Given the description of an element on the screen output the (x, y) to click on. 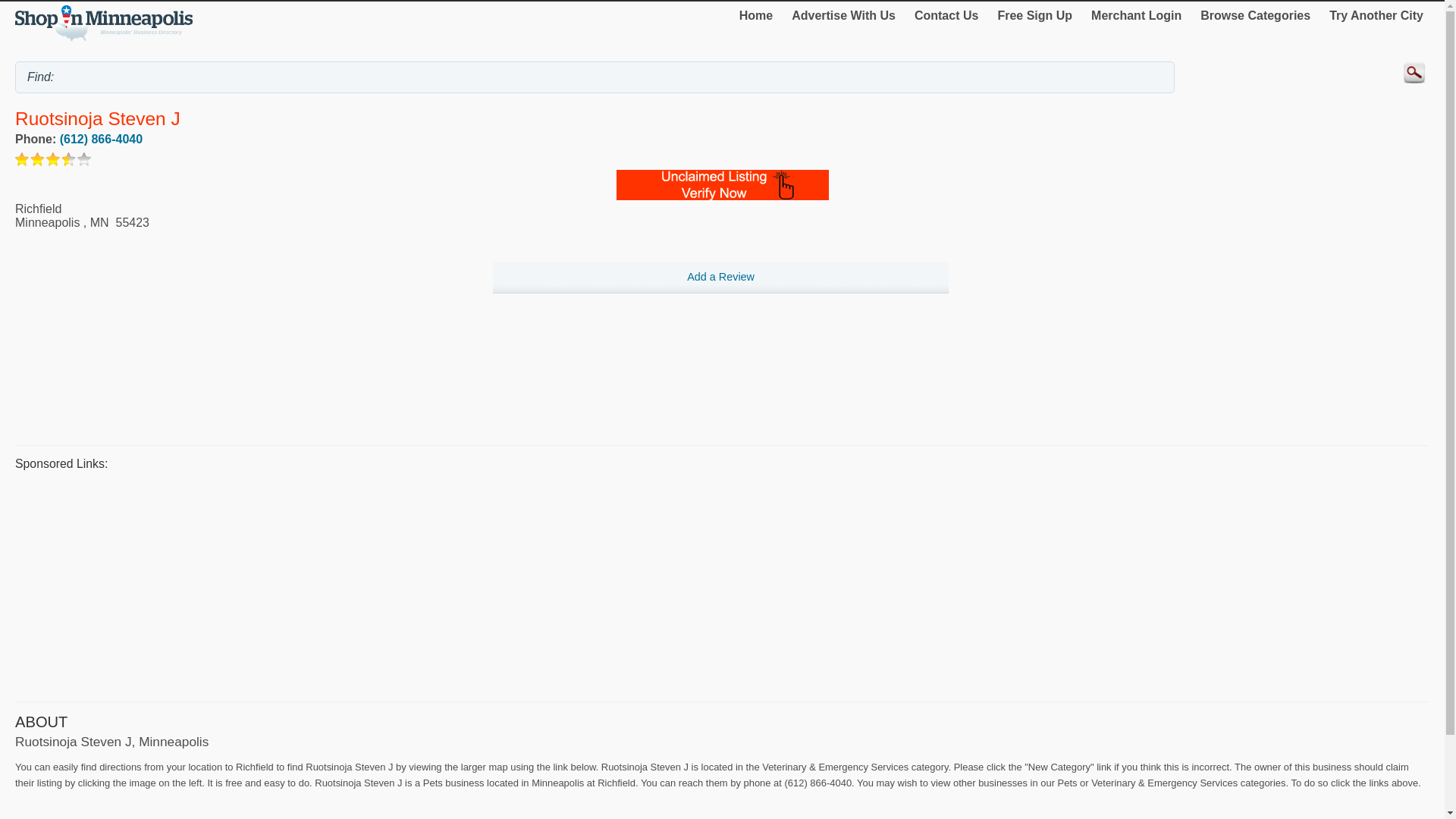
Contact Us (946, 15)
Find:  (594, 77)
Browse Categories (1254, 15)
Add a Review (721, 277)
Find:  (594, 77)
Try Another City (1376, 15)
Advertise With Us (843, 15)
Home (755, 15)
Free Sign Up (1034, 15)
Merchant Login (1136, 15)
